Given the description of an element on the screen output the (x, y) to click on. 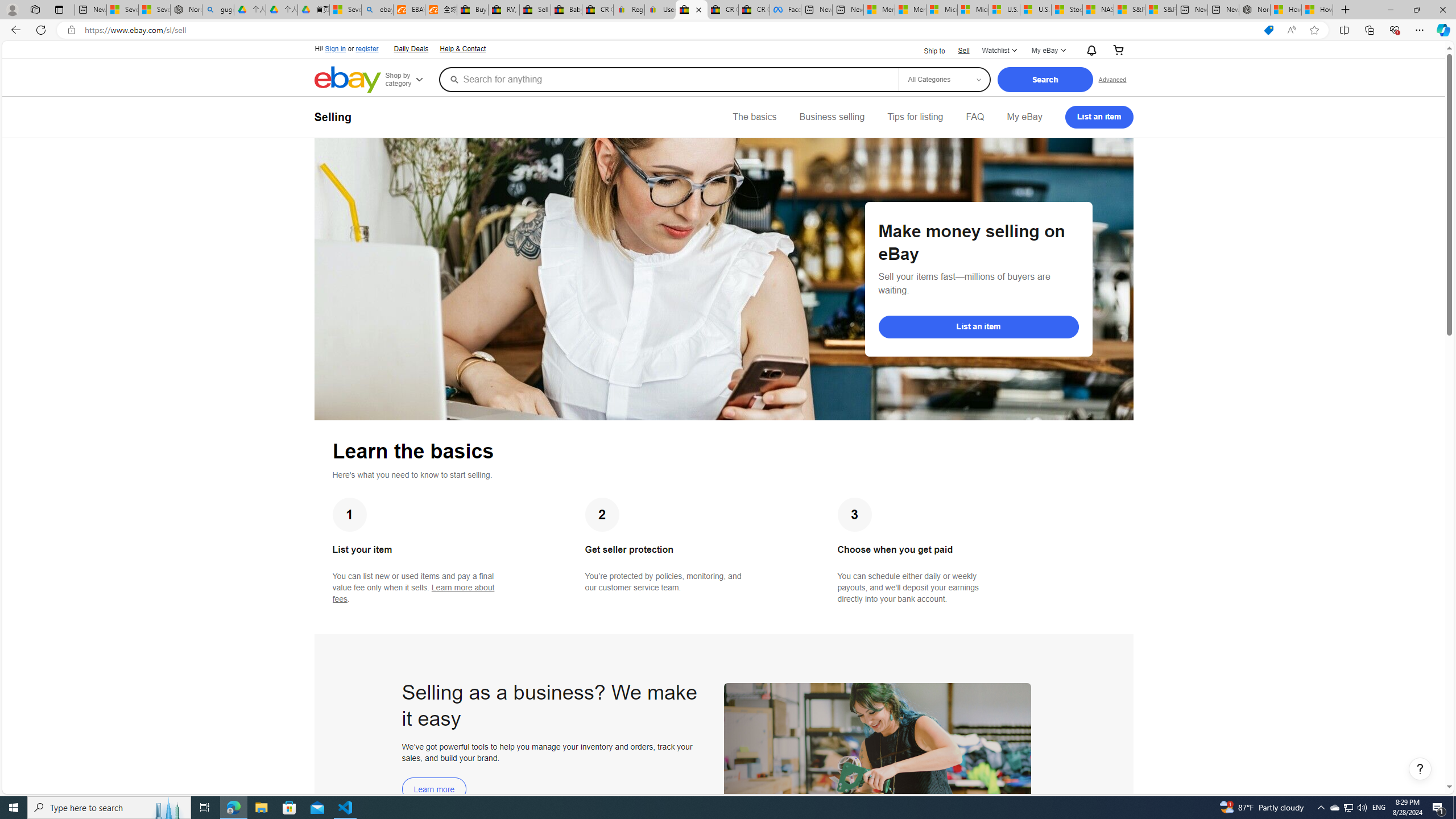
Business selling (831, 116)
Expand Cart (1118, 50)
User Privacy Notice | eBay (660, 9)
Register: Create a personal eBay account (628, 9)
Business selling (831, 116)
Select a category for search (944, 78)
Daily Deals (411, 49)
